Given the description of an element on the screen output the (x, y) to click on. 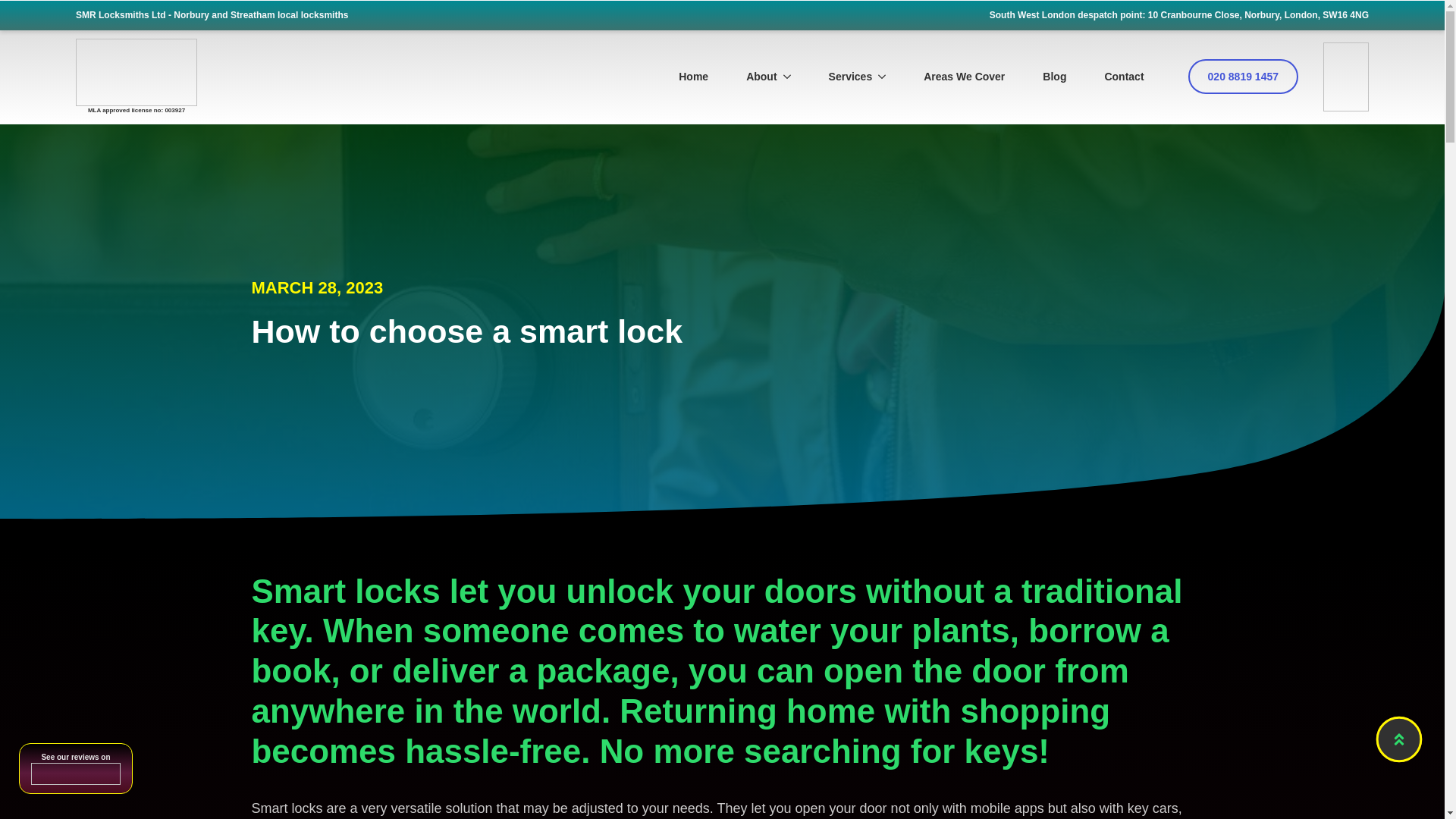
020 8819 1457 (1243, 76)
Services (840, 76)
About (751, 76)
Blog (1053, 76)
Areas We Cover (963, 76)
Contact (1122, 76)
Home (692, 76)
